Given the description of an element on the screen output the (x, y) to click on. 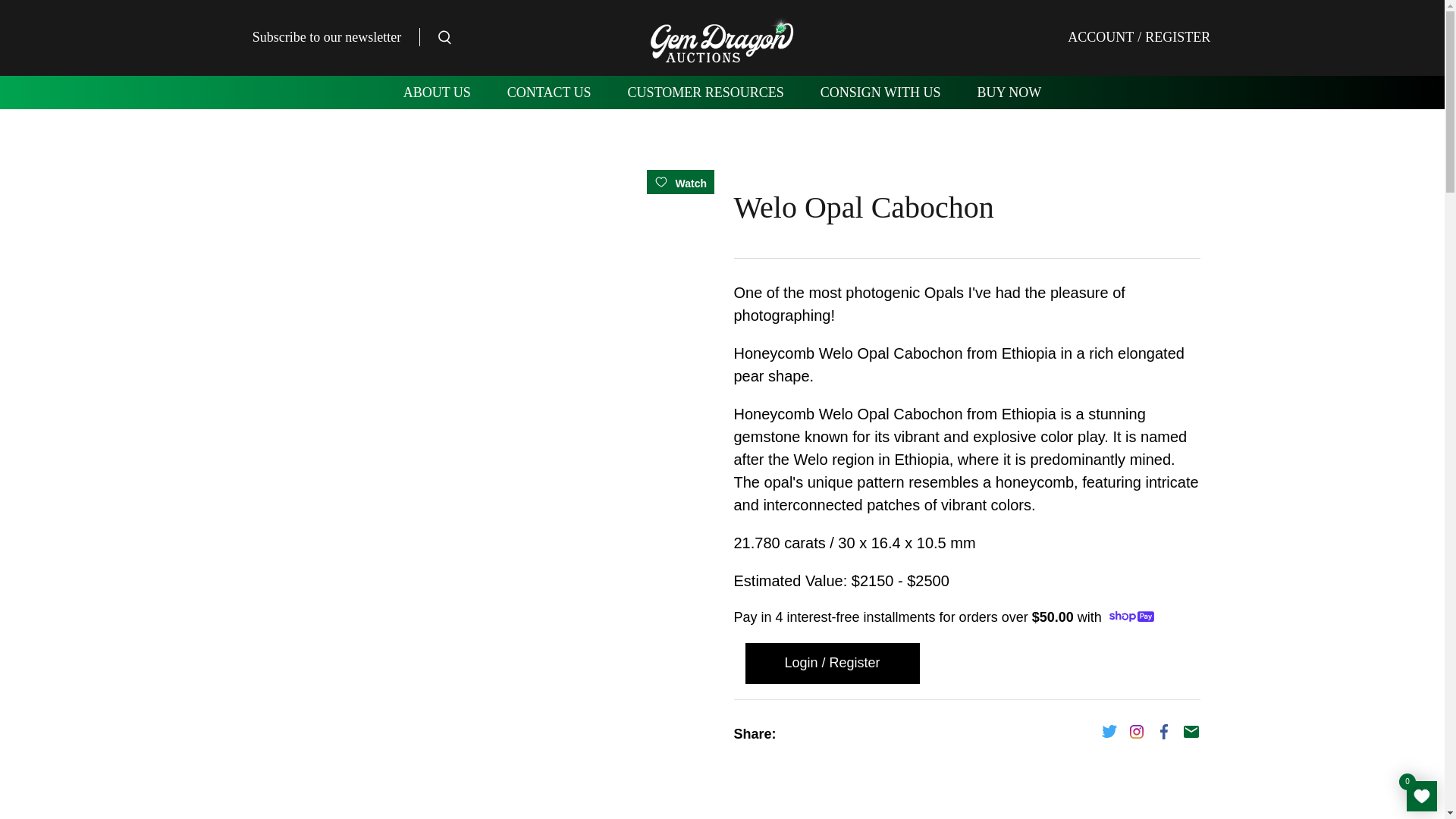
BUY NOW (1008, 92)
Email this to a friend (1189, 736)
Subscribe to our newsletter (326, 36)
ACCOUNT (1100, 36)
Share this on Twitter (1108, 736)
REGISTER (1175, 36)
CONTACT US (549, 92)
CUSTOMER RESOURCES (706, 92)
Share this on Facebook (1163, 736)
Gem Dragon Auctions  (722, 37)
CONSIGN WITH US (880, 92)
ABOUT US (437, 92)
